Given the description of an element on the screen output the (x, y) to click on. 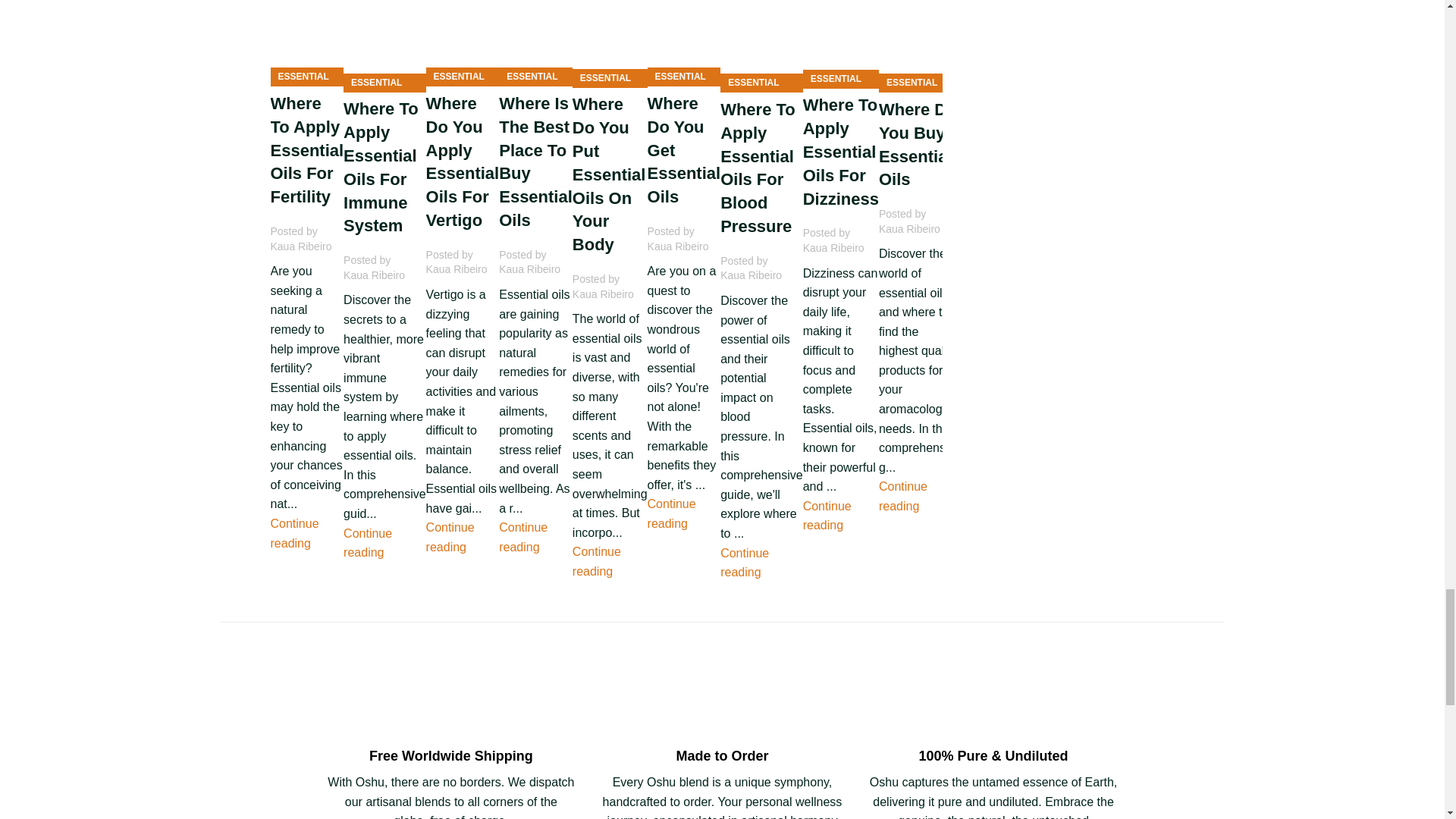
Where Do You Get Essential Oils (683, 42)
Where To Apply Essential Oils For Immune System (384, 45)
Where To Apply Essential Oils For Dizziness (841, 43)
Where Do You Apply Essential Oils For Vertigo (462, 42)
Where Do You Put Essential Oils On Your Body (609, 43)
Where To Apply Essential Oils For Fertility (306, 42)
Where Is The Best Place To Buy Essential Oils (535, 42)
Where Do You Buy Essential Oils (919, 45)
Where To Apply Essential Oils For Blood Pressure (761, 45)
